Given the description of an element on the screen output the (x, y) to click on. 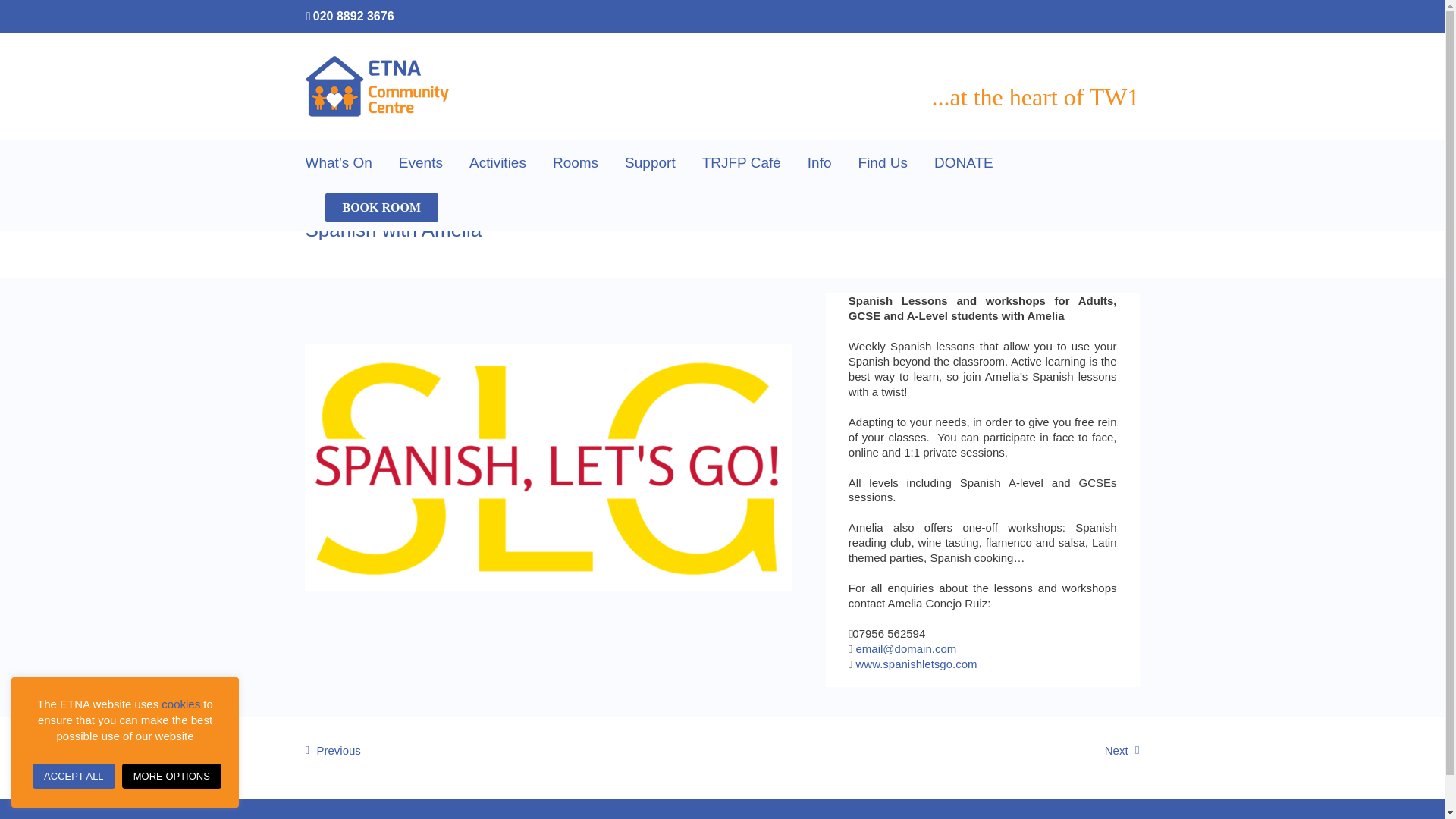
Activities (496, 162)
Rooms (575, 162)
Support (649, 162)
Events (420, 162)
